Given the description of an element on the screen output the (x, y) to click on. 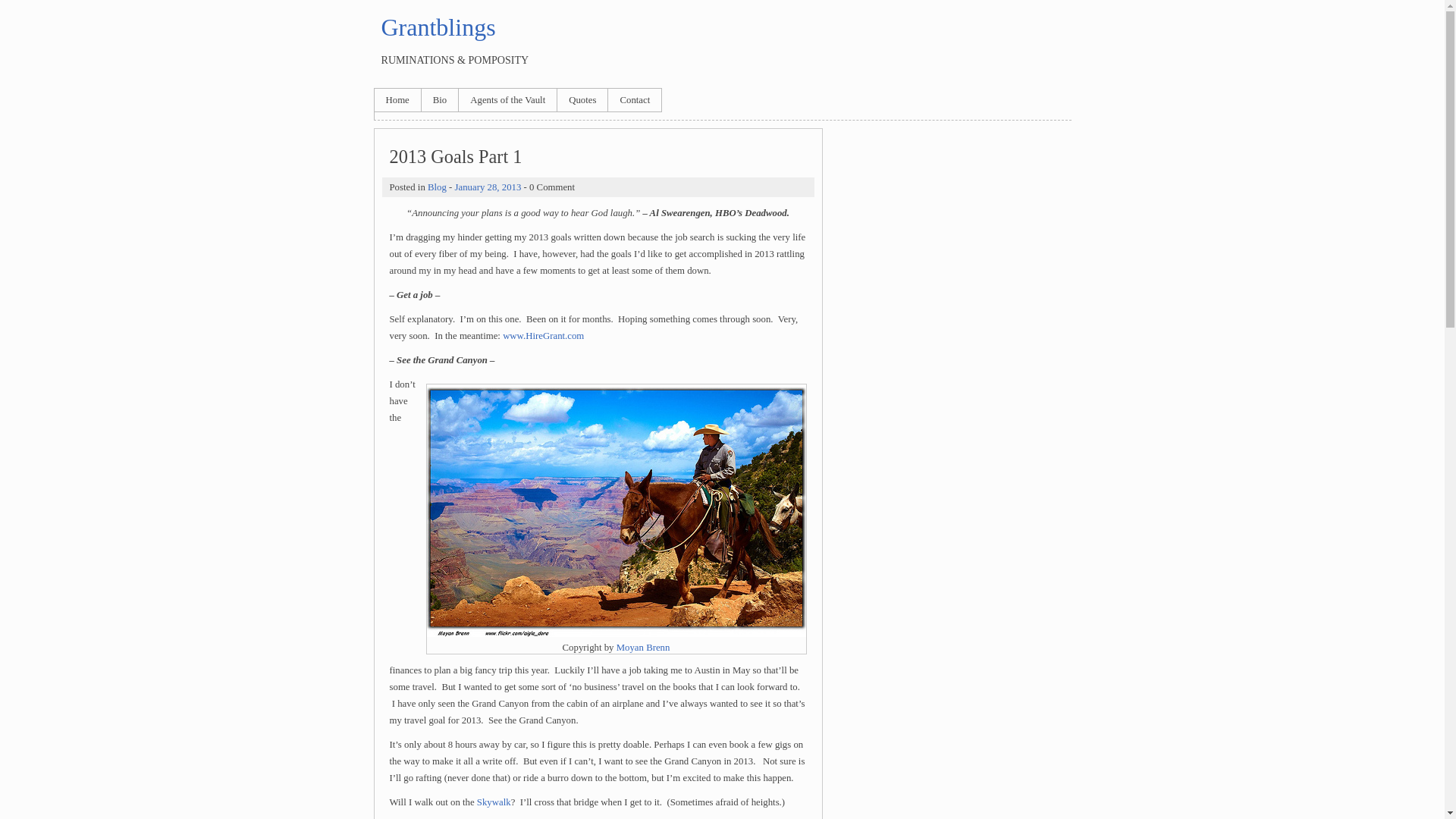
Contact (634, 99)
Skywalk (494, 801)
The Grand Canyon (615, 512)
Agents of the Vault (507, 99)
www.HireGrant.com (542, 335)
Blog (437, 186)
Moyan Brenn (642, 647)
Quotes (582, 99)
Grantblings (437, 26)
January 28, 2013 (487, 186)
Bio (440, 99)
Home (397, 99)
